Given the description of an element on the screen output the (x, y) to click on. 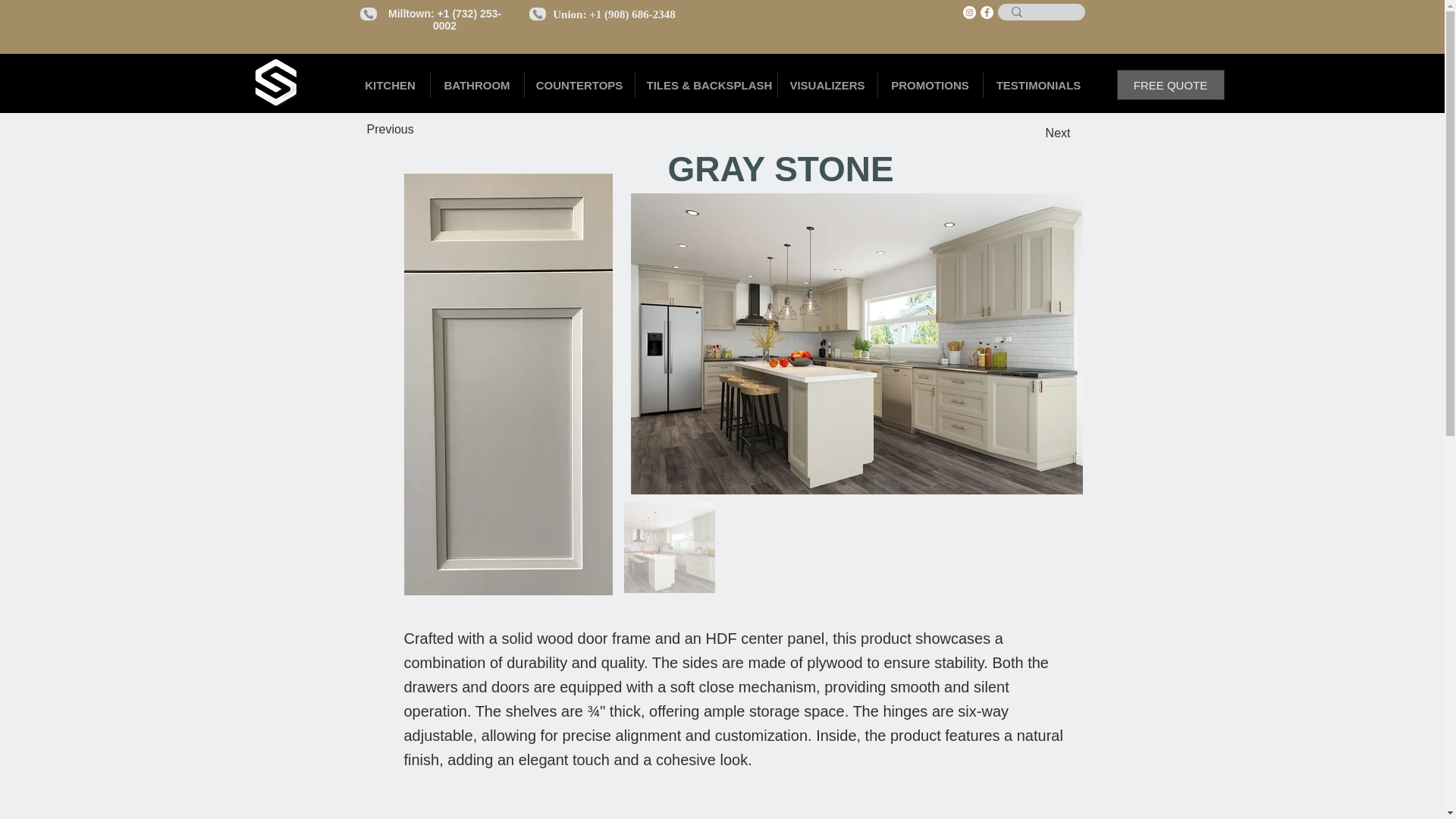
TESTIMONIALS (1037, 84)
VISUALIZERS (827, 84)
FREE QUOTE (1170, 84)
Previous (416, 129)
Next (1032, 132)
KITCHEN (389, 84)
PROMOTIONS (929, 84)
COUNTERTOPS (579, 84)
